Given the description of an element on the screen output the (x, y) to click on. 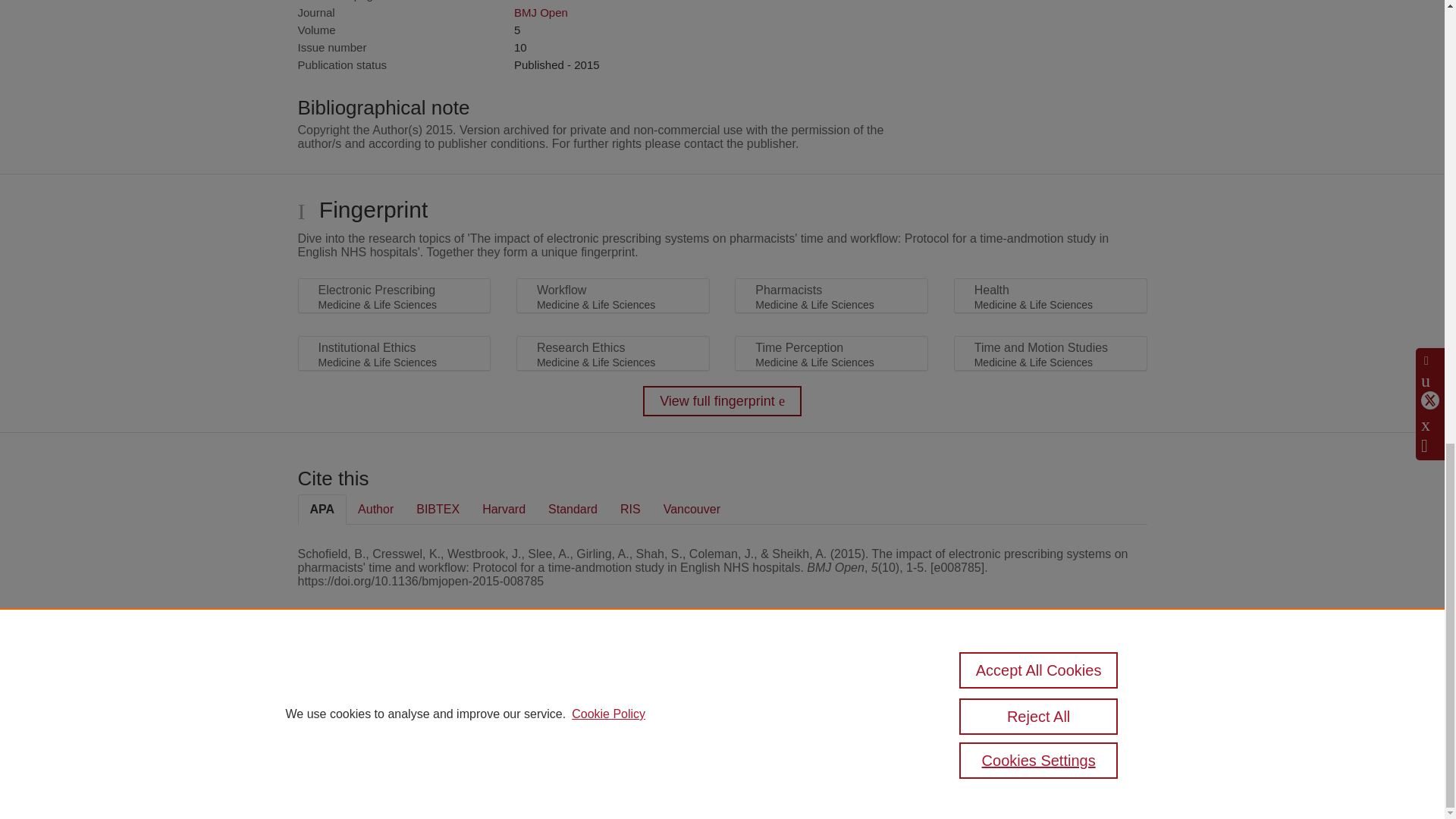
View full fingerprint (722, 400)
BMJ Open (540, 11)
